Given the description of an element on the screen output the (x, y) to click on. 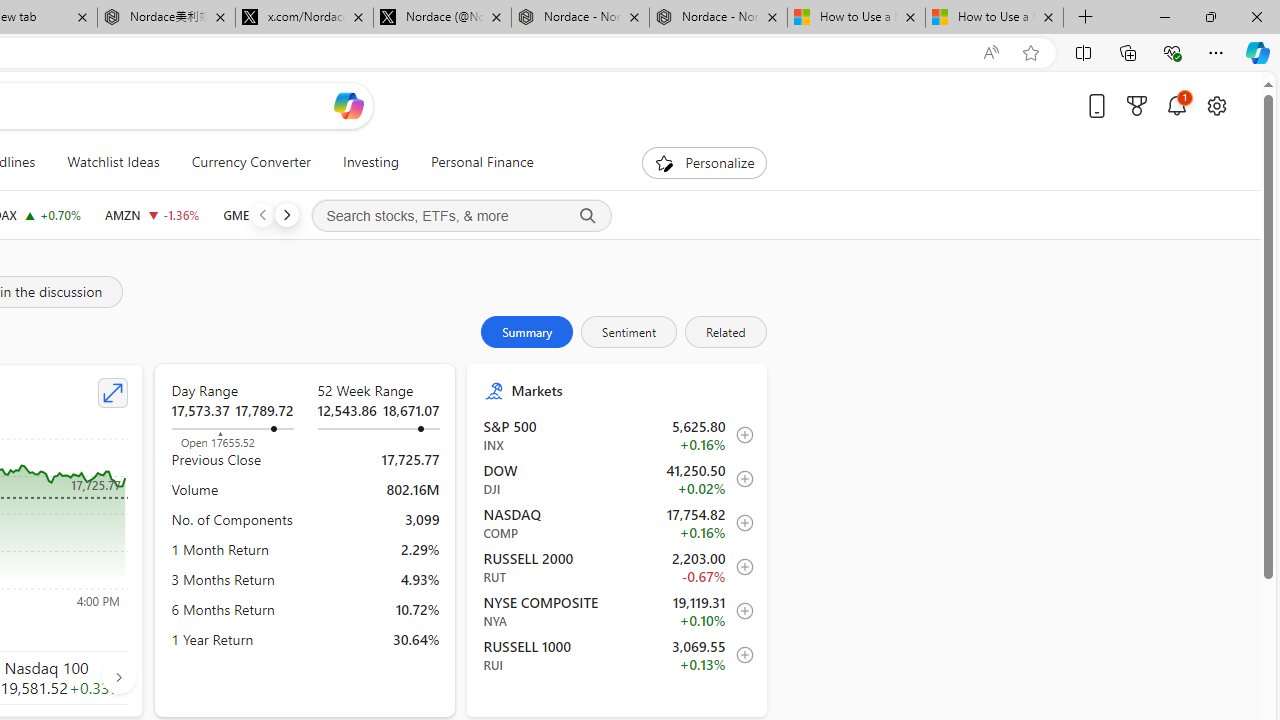
Investing (370, 162)
Summary (527, 331)
Watchlist Ideas (113, 162)
GME GAMESTOP CORP. decrease 20.74 -0.62 -2.90% (266, 214)
Previous (262, 214)
Open settings (1216, 105)
Search stocks, ETFs, & more (461, 215)
AutomationID: finance_carousel_navi_right (118, 677)
Sentiment (629, 331)
